Given the description of an element on the screen output the (x, y) to click on. 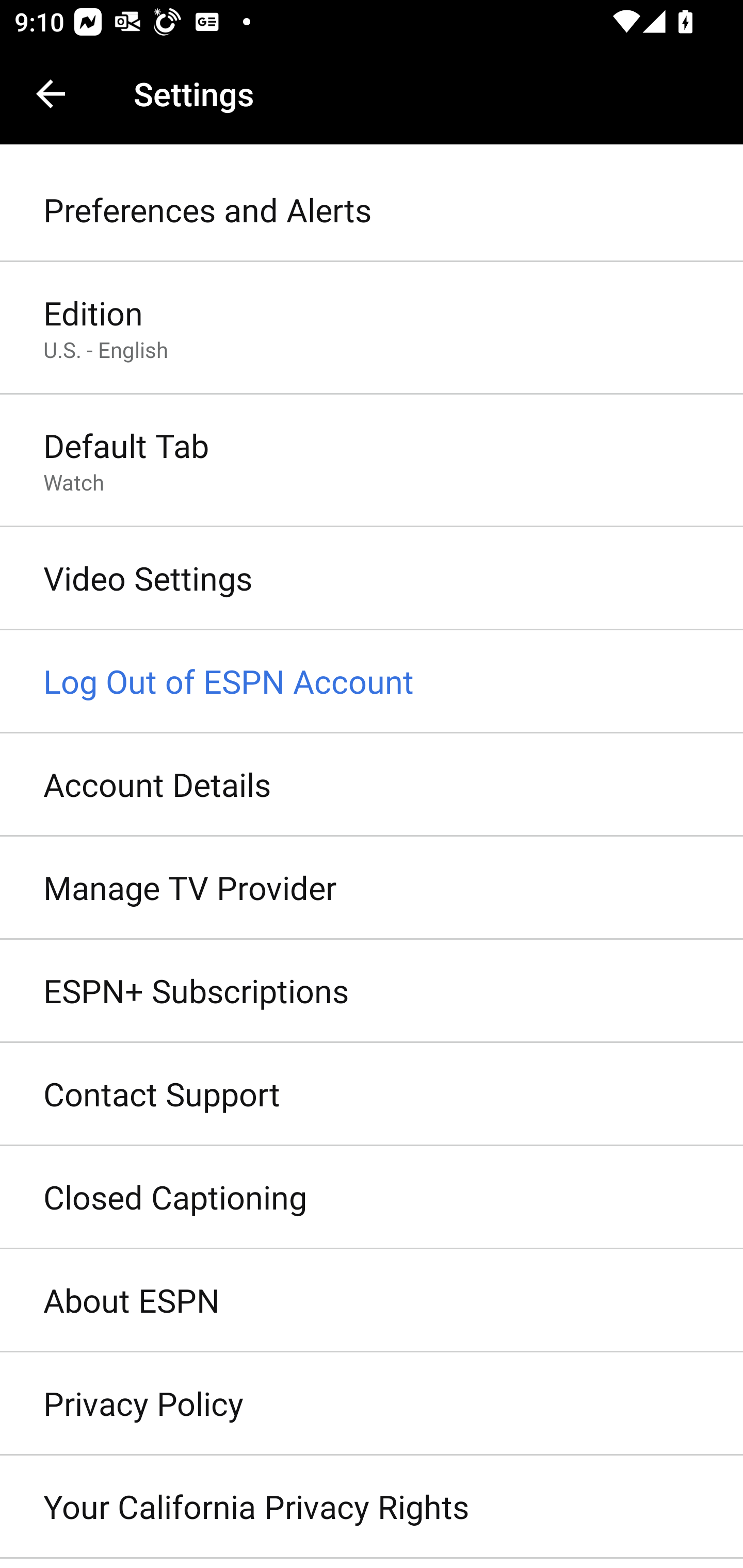
Navigate up (50, 93)
Preferences and Alerts (371, 209)
Edition U.S. - English (371, 328)
Default Tab Watch (371, 461)
Video Settings (371, 578)
Log Out of ESPN Account (371, 681)
Account Details (371, 785)
Manage TV Provider (371, 888)
ESPN+ Subscriptions (371, 990)
Contact Support (371, 1094)
Closed Captioning (371, 1197)
About ESPN (371, 1301)
Privacy Policy (371, 1403)
Your California Privacy Rights (371, 1506)
